Given the description of an element on the screen output the (x, y) to click on. 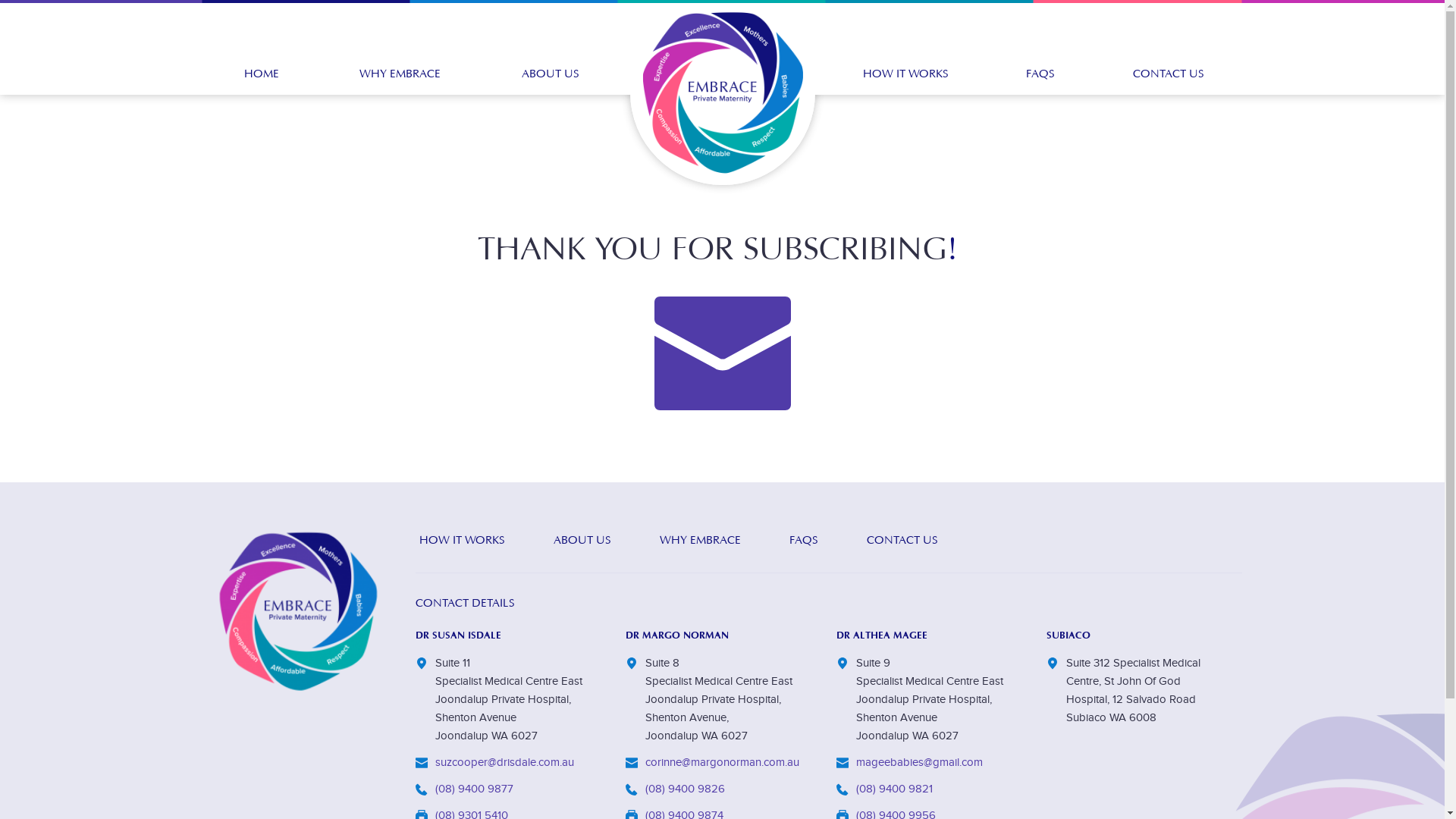
(08) 9400 9877 Element type: text (474, 788)
(08) 9400 9826 Element type: text (684, 788)
HOME Element type: text (261, 47)
HOW IT WORKS Element type: text (461, 540)
ABOUT US Element type: text (550, 47)
ABOUT US Element type: text (582, 540)
WHY EMBRACE Element type: text (699, 540)
CONTACT US Element type: text (1168, 47)
FAQS Element type: text (1040, 47)
suzcooper@drisdale.com.au Element type: text (504, 762)
CONTACT US Element type: text (901, 540)
FAQS Element type: text (802, 540)
HOW IT WORKS Element type: text (905, 47)
mageebabies@gmail.com Element type: text (918, 762)
corinne@margonorman.com.au Element type: text (722, 762)
WHY EMBRACE Element type: text (399, 47)
(08) 9400 9821 Element type: text (893, 788)
